Given the description of an element on the screen output the (x, y) to click on. 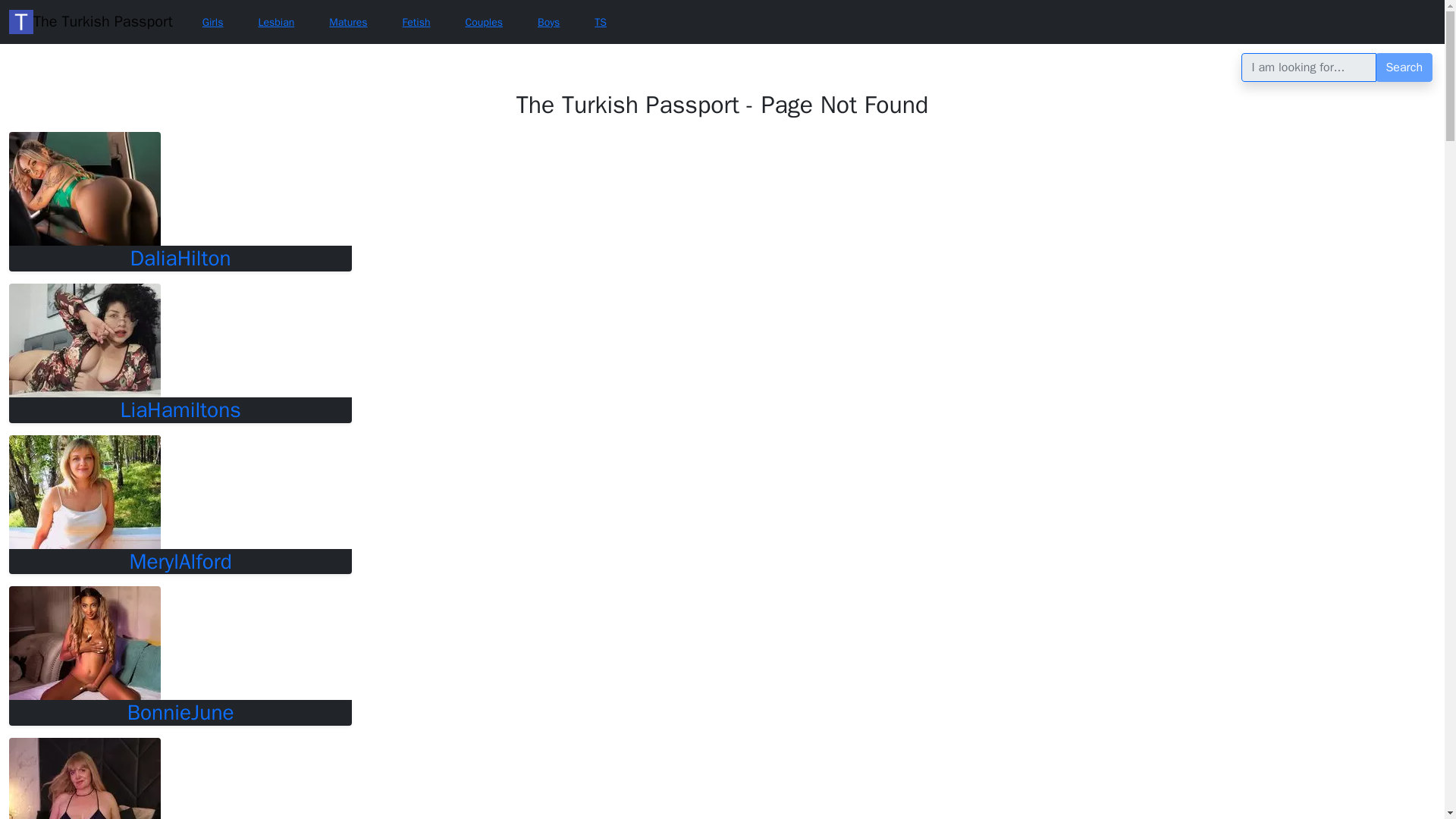
Lesbian (275, 22)
 The Turkish Passport (90, 21)
Start Anal Finger LiaHamiltons (84, 339)
Start Anal Finger DaliaHilton (84, 187)
TS (600, 22)
Start Anal Finger MerylAlford (84, 491)
BonnieJune (180, 712)
Boys (548, 22)
Girls (212, 22)
LiaHamiltons (180, 410)
Couples (483, 22)
Boys (548, 22)
Girls (212, 22)
Matures (347, 22)
Couples (483, 22)
